Given the description of an element on the screen output the (x, y) to click on. 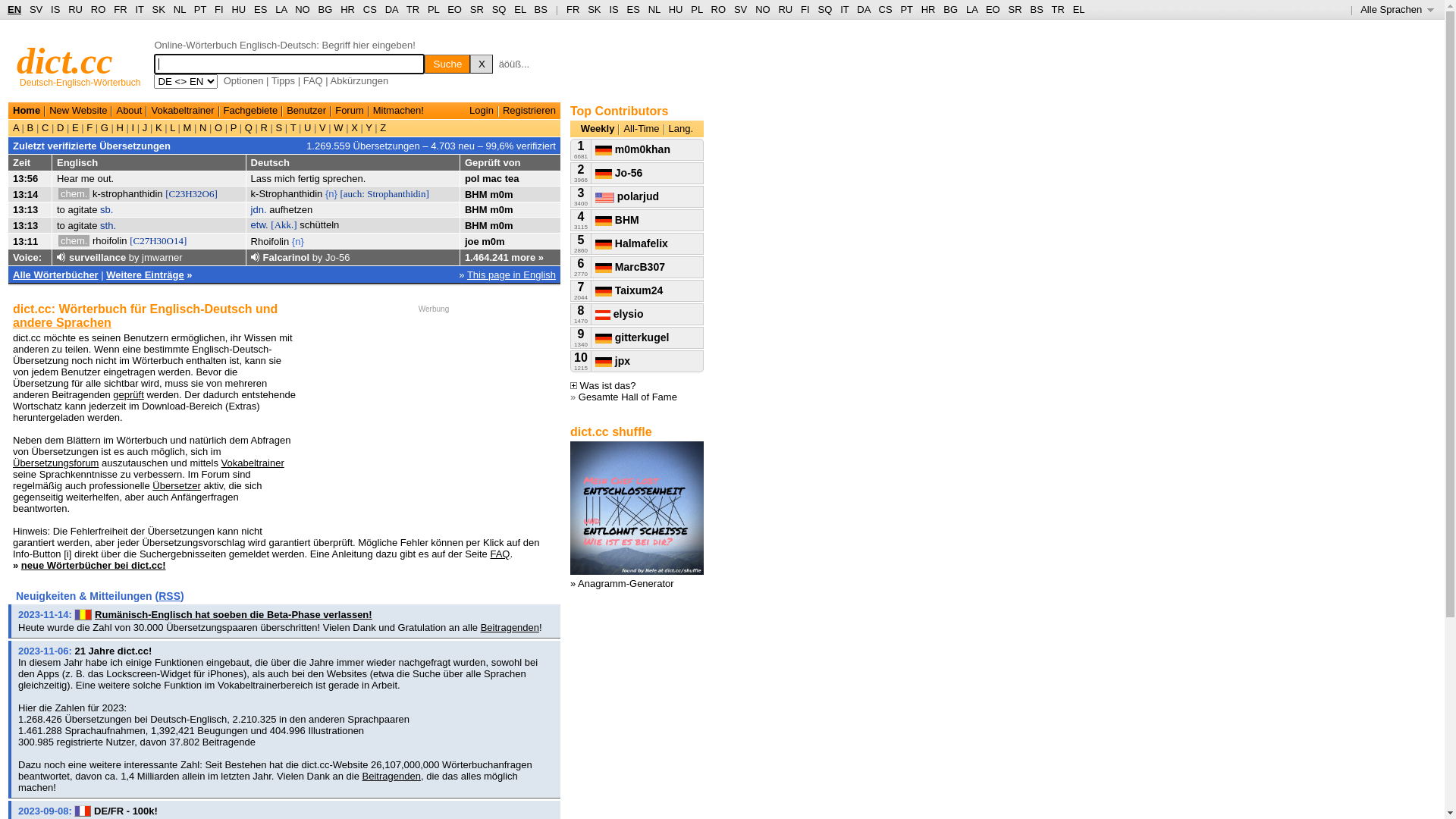
BG Element type: text (325, 9)
SV Element type: text (35, 9)
Gesamte Hall of Fame Element type: text (627, 396)
T Element type: text (292, 127)
D Element type: text (59, 127)
PT Element type: text (200, 9)
MarcB307 Element type: text (630, 266)
Lang. Element type: text (680, 128)
F Element type: text (89, 127)
Was ist das? Element type: text (603, 385)
FI Element type: text (218, 9)
IS Element type: text (613, 9)
Voice: Element type: text (26, 257)
Tipps Element type: text (282, 80)
CS Element type: text (369, 9)
pol Element type: text (472, 178)
Jo-56 Element type: text (337, 257)
B Element type: text (30, 127)
Registrieren Element type: text (528, 110)
elysio Element type: text (619, 313)
Z Element type: text (381, 127)
m0m Element type: text (500, 209)
13:56 Element type: text (24, 178)
RU Element type: text (785, 9)
13:13 Element type: text (24, 225)
Lass mich fertig sprechen. Element type: text (308, 178)
EO Element type: text (992, 9)
Jo-56 Element type: text (618, 172)
SV Element type: text (740, 9)
Taixum24 Element type: text (628, 290)
FAQ Element type: text (499, 553)
BHM Element type: text (475, 225)
IS Element type: text (54, 9)
NO Element type: text (762, 9)
IT Element type: text (138, 9)
mac Element type: text (492, 178)
to agitate sth. Element type: text (86, 225)
jdn. aufhetzen Element type: text (282, 209)
gitterkugel Element type: text (631, 337)
HR Element type: text (928, 9)
TR Element type: text (412, 9)
BHM Element type: text (475, 209)
This page in English Element type: text (511, 273)
polarjud Element type: text (626, 196)
All-Time Element type: text (640, 128)
Login Element type: text (481, 110)
Hear me out. Element type: text (84, 178)
BHM Element type: text (617, 219)
dict.cc Element type: text (64, 60)
jpx Element type: text (612, 360)
m0m Element type: text (492, 240)
Home Element type: text (26, 110)
DA Element type: text (391, 9)
SK Element type: text (158, 9)
Optionen Element type: text (243, 80)
m0m Element type: text (500, 193)
FR Element type: text (572, 9)
PT Element type: text (906, 9)
Benutzer Element type: text (306, 110)
Vokabeltrainer Element type: text (252, 462)
LA Element type: text (971, 9)
EL Element type: text (519, 9)
BG Element type: text (950, 9)
chem. Element type: text (73, 240)
E Element type: text (75, 127)
tea Element type: text (512, 178)
O Element type: text (217, 127)
k-strophanthidin [C23H32O6] Element type: text (154, 193)
rhoifolin [C27H30O14] Element type: text (139, 240)
A Element type: text (16, 127)
LA Element type: text (280, 9)
P Element type: text (233, 127)
SQ Element type: text (824, 9)
J Element type: text (144, 127)
surveillance Element type: text (97, 257)
SK Element type: text (593, 9)
Weekly Element type: text (597, 128)
ES Element type: text (260, 9)
New Website Element type: text (77, 110)
Mitmachen! Element type: text (398, 110)
DA Element type: text (862, 9)
NO Element type: text (302, 9)
13:13 Element type: text (24, 209)
FR Element type: text (119, 9)
FI Element type: text (804, 9)
N Element type: text (202, 127)
13:11 Element type: text (24, 240)
PL Element type: text (433, 9)
Beitragenden Element type: text (509, 627)
EL Element type: text (1079, 9)
BS Element type: text (540, 9)
HU Element type: text (238, 9)
RO Element type: text (718, 9)
HR Element type: text (347, 9)
H Element type: text (119, 127)
jmwarner Element type: text (161, 257)
to agitate sb. Element type: text (84, 209)
BHM Element type: text (475, 193)
RSS Element type: text (169, 595)
About Element type: text (128, 110)
Y Element type: text (368, 127)
13:14 Element type: text (24, 193)
Q Element type: text (247, 127)
PL Element type: text (696, 9)
Beitragenden Element type: text (391, 775)
TR Element type: text (1057, 9)
m0m0khan Element type: text (632, 149)
NL Element type: text (179, 9)
EN Element type: text (14, 9)
ES Element type: text (633, 9)
V Element type: text (322, 127)
U Element type: text (307, 127)
SR Element type: text (476, 9)
K Element type: text (158, 127)
HU Element type: text (675, 9)
G Element type: text (103, 127)
Suche Element type: text (447, 63)
CS Element type: text (884, 9)
SR Element type: text (1015, 9)
m0m Element type: text (500, 225)
W Element type: text (338, 127)
S Element type: text (279, 127)
IT Element type: text (844, 9)
R Element type: text (263, 127)
Forum Element type: text (349, 110)
Vokabeltrainer Element type: text (181, 110)
L Element type: text (172, 127)
I Element type: text (132, 127)
EO Element type: text (454, 9)
BS Element type: text (1035, 9)
Fachgebiete Element type: text (250, 110)
Alle Sprachen  Element type: text (1397, 9)
RO Element type: text (98, 9)
SQ Element type: text (499, 9)
X Element type: text (354, 127)
NL Element type: text (654, 9)
chem. Element type: text (73, 193)
M Element type: text (187, 127)
C Element type: text (44, 127)
joe Element type: text (471, 240)
FAQ Element type: text (313, 80)
andere Sprachen Element type: text (61, 322)
RU Element type: text (75, 9)
X Element type: text (481, 63)
Halmafelix Element type: text (631, 243)
Falcarinol Element type: text (286, 257)
